Given the description of an element on the screen output the (x, y) to click on. 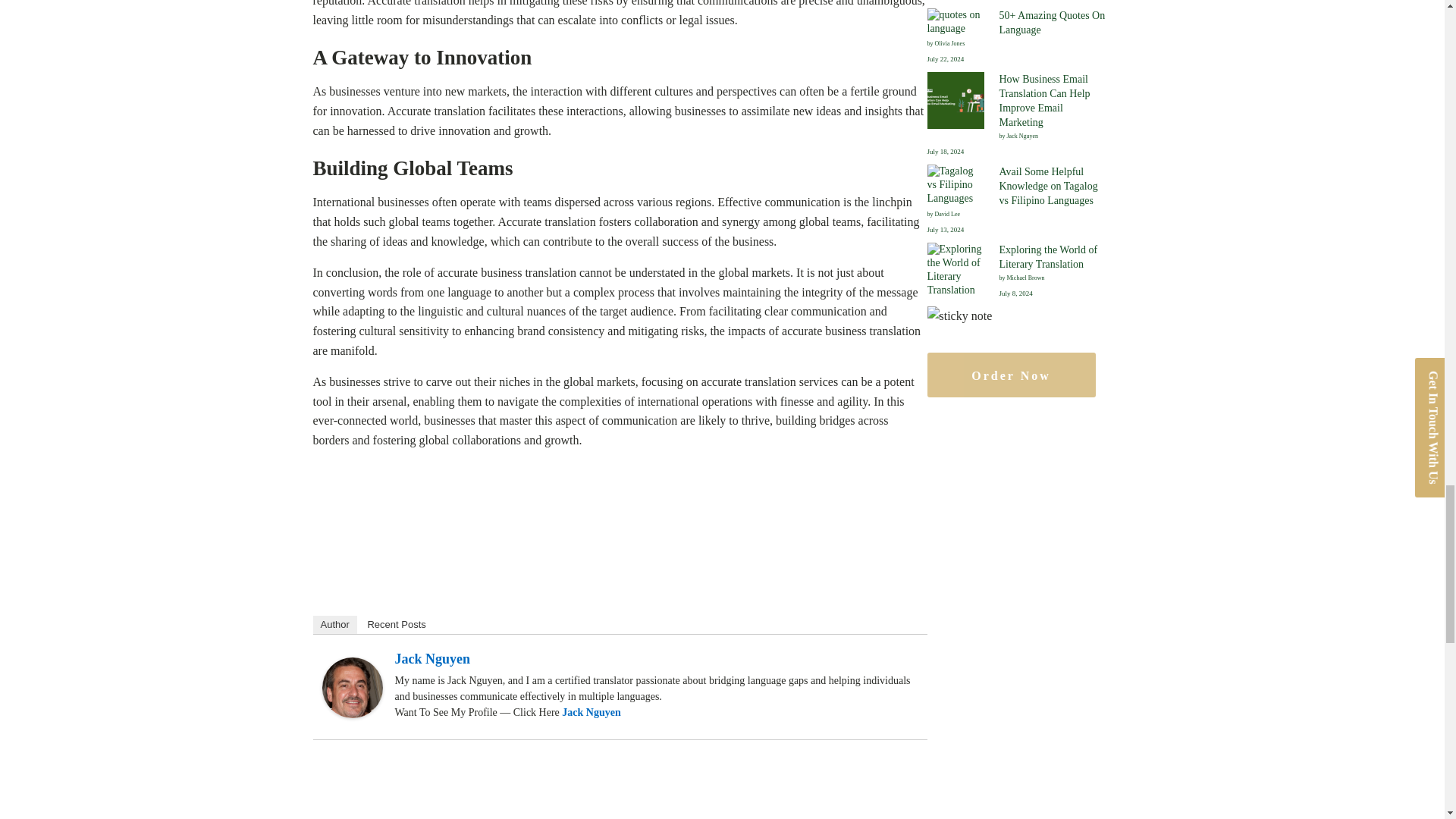
Jack Nguyen (351, 713)
